Given the description of an element on the screen output the (x, y) to click on. 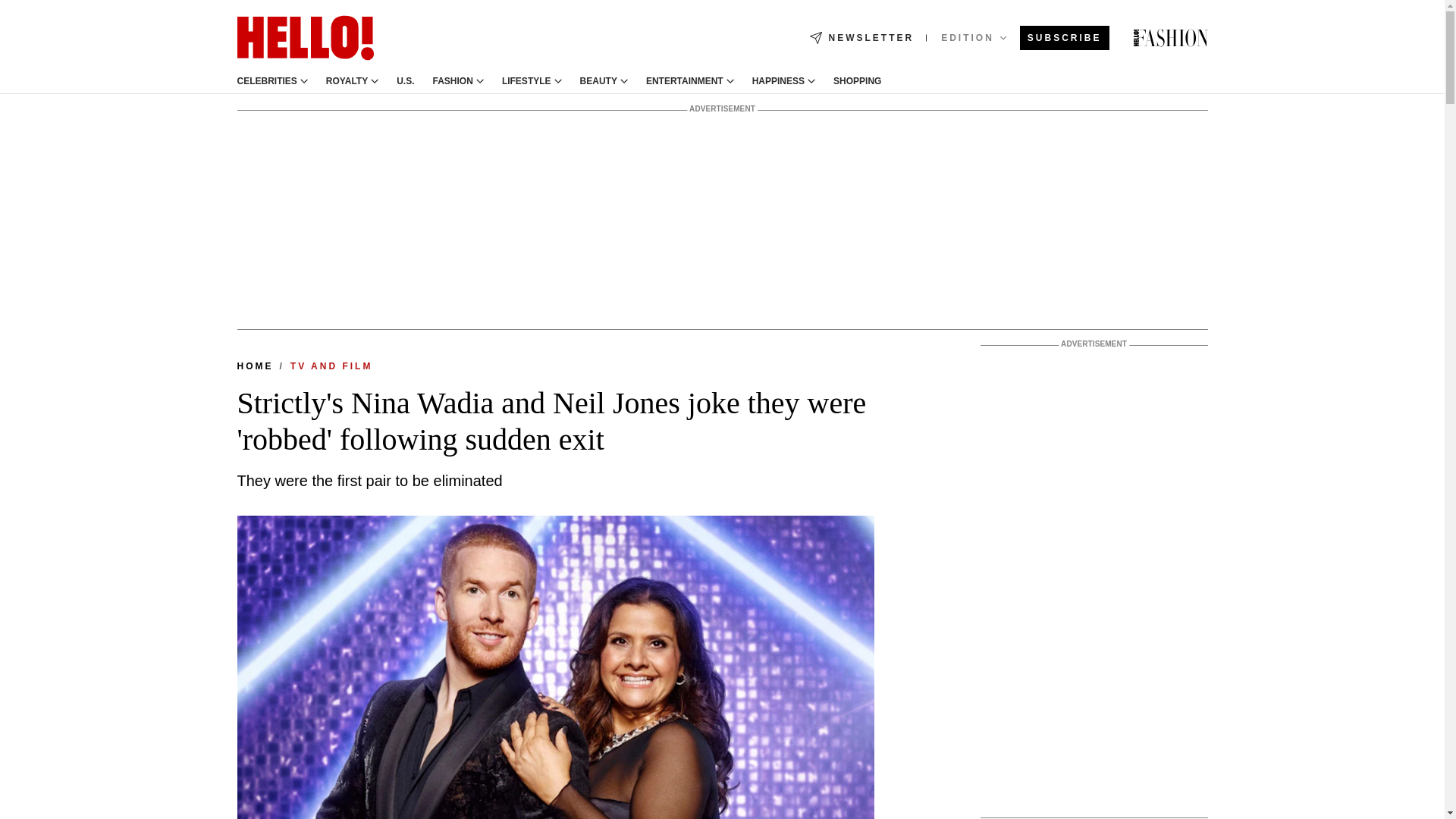
ROYALTY (347, 81)
NEWSLETTER (861, 38)
BEAUTY (598, 81)
CELEBRITIES (266, 81)
U.S. (404, 81)
FASHION (452, 81)
